Given the description of an element on the screen output the (x, y) to click on. 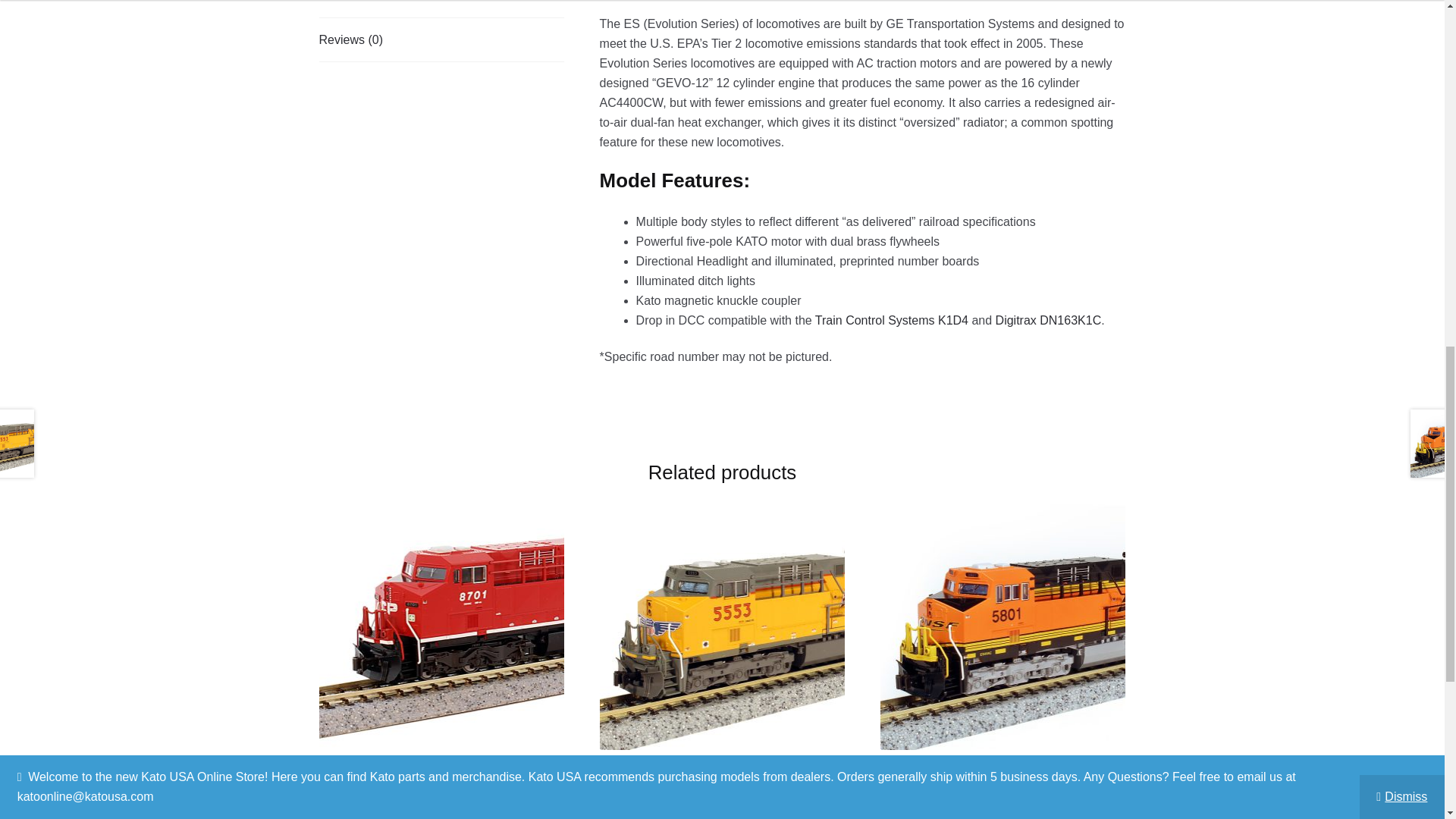
Additional information (441, 8)
Train Control Systems K1D4 (891, 319)
Digitrax DN163K1C (1048, 319)
